Given the description of an element on the screen output the (x, y) to click on. 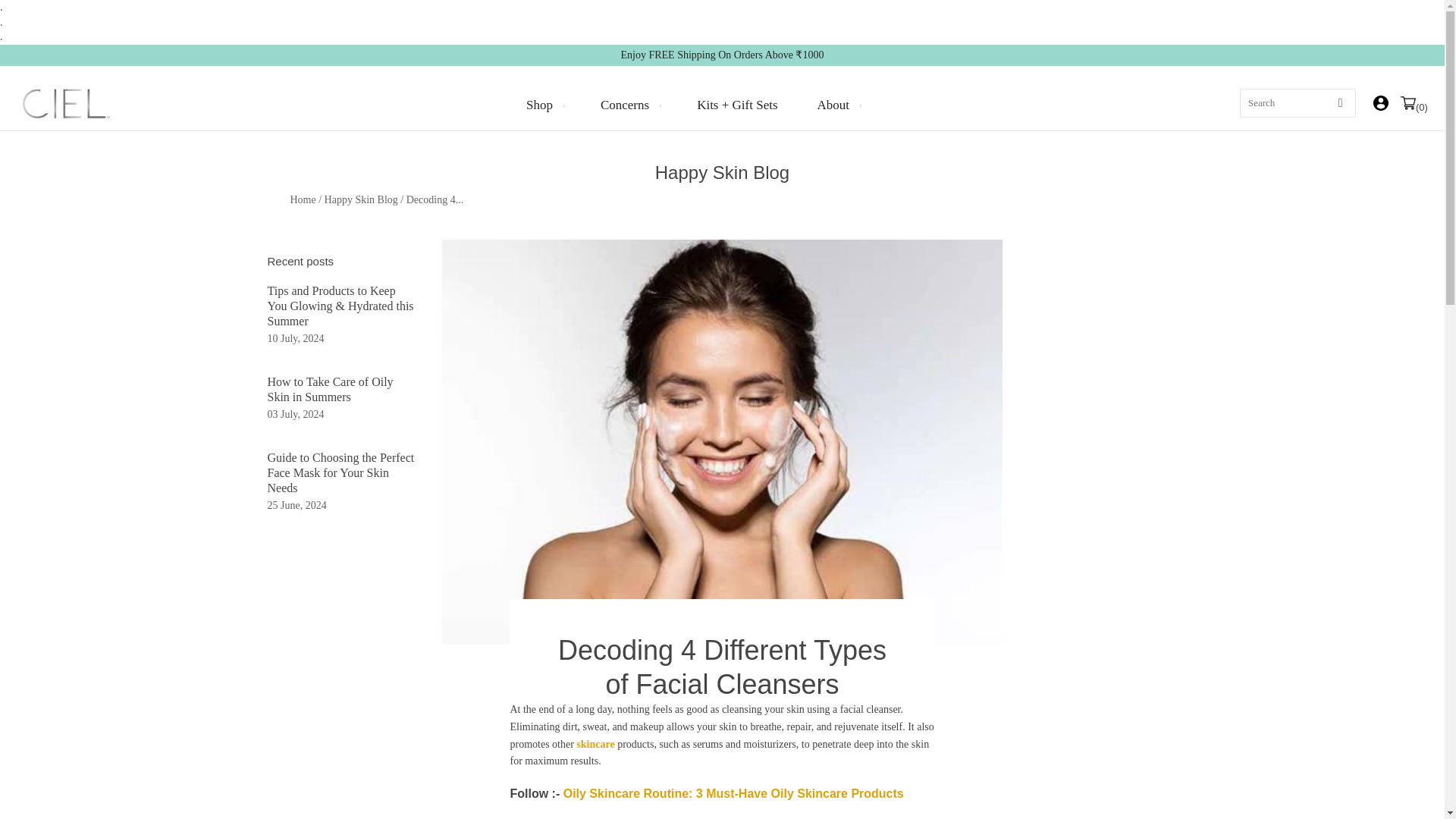
Shop (543, 104)
About (837, 104)
Concerns (628, 104)
